Given the description of an element on the screen output the (x, y) to click on. 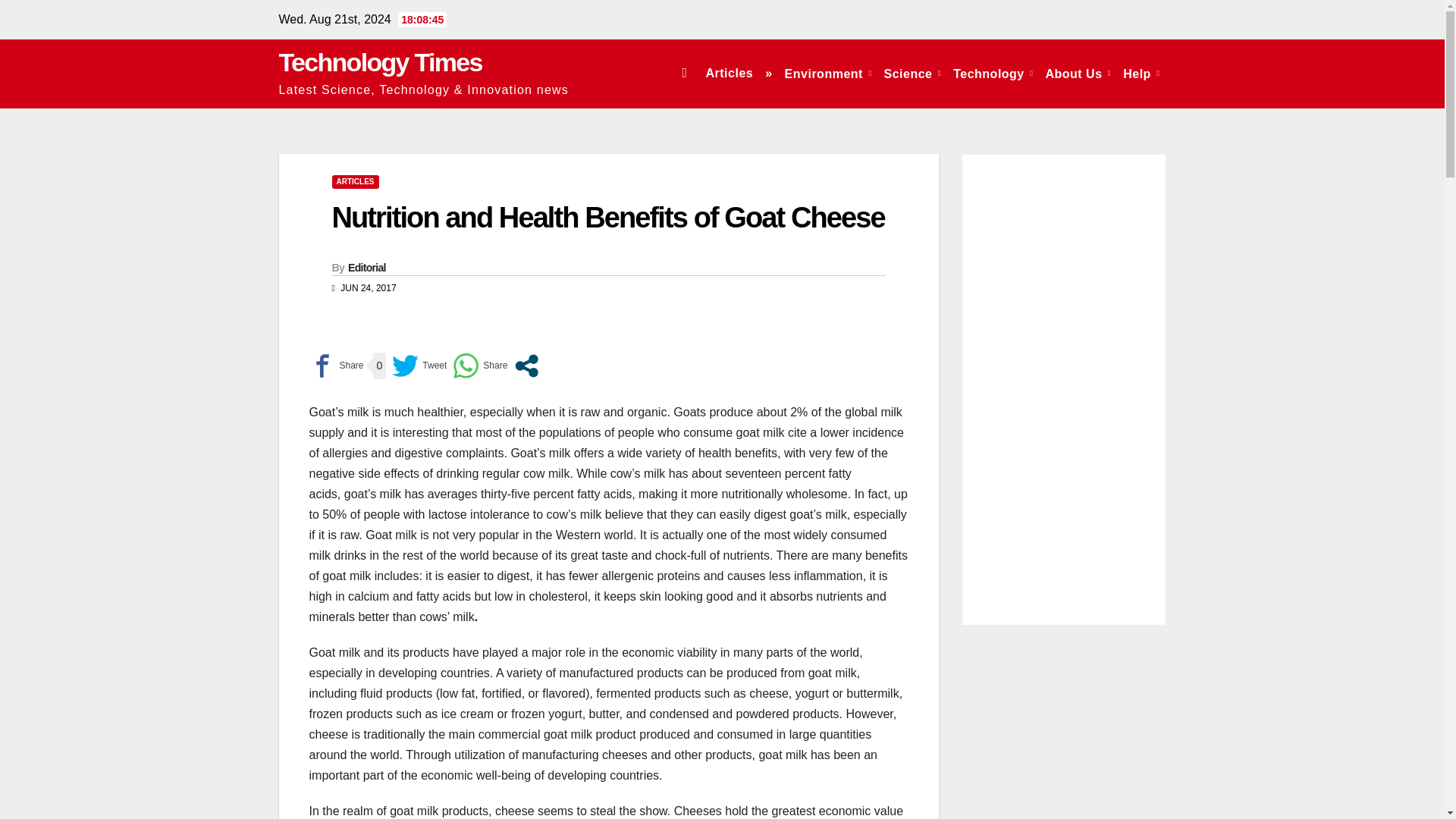
Environment (827, 73)
Technology Times (380, 61)
Science (912, 73)
Science (912, 73)
Environment (827, 73)
Technology (993, 73)
Technology (993, 73)
About Us (1077, 73)
